Given the description of an element on the screen output the (x, y) to click on. 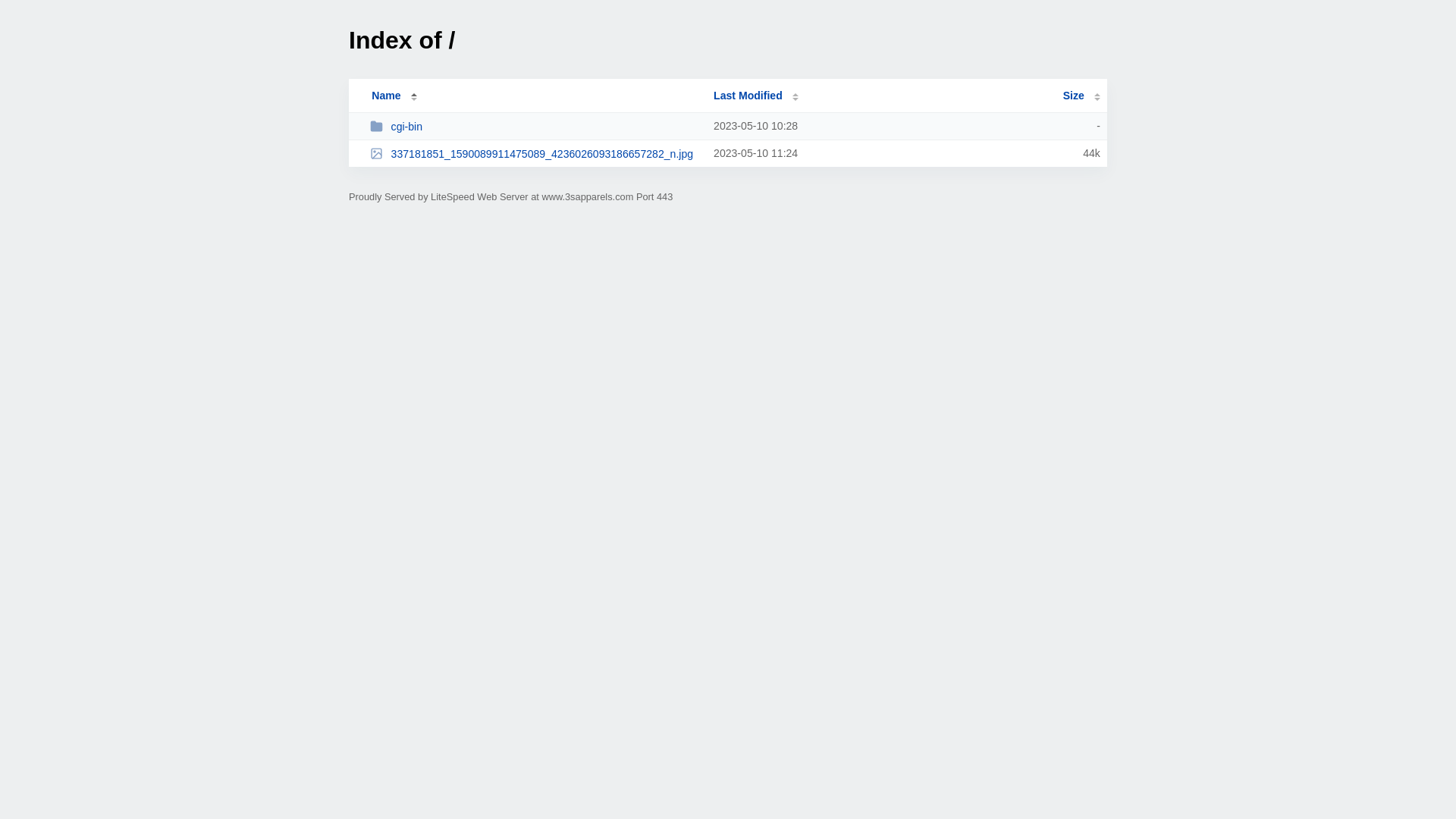
Name Element type: text (385, 95)
Last Modified Element type: text (755, 95)
337181851_1590089911475089_4236026093186657282_n.jpg Element type: text (534, 153)
Size Element type: text (1081, 95)
cgi-bin Element type: text (534, 125)
